Given the description of an element on the screen output the (x, y) to click on. 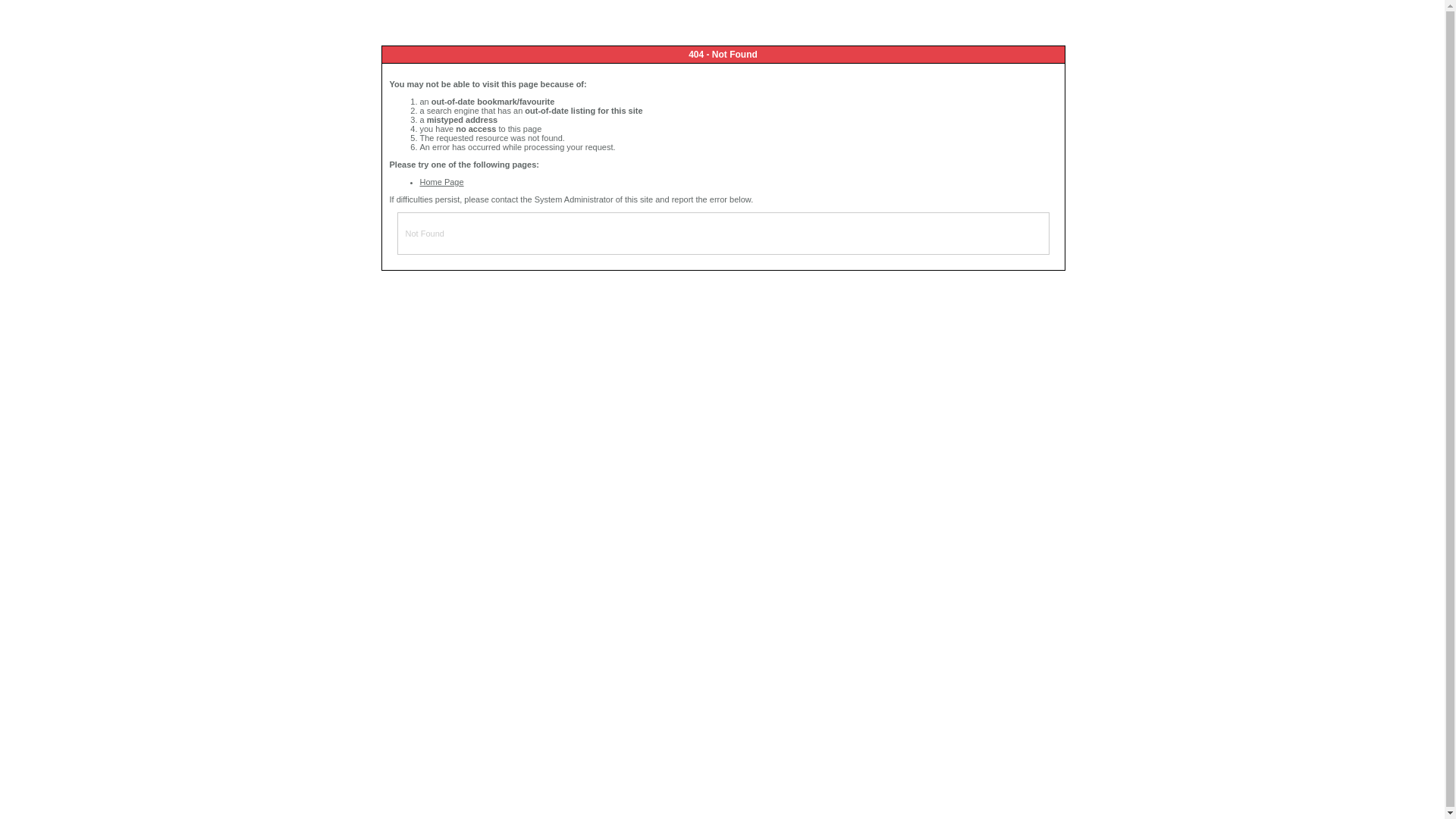
Home Page Element type: text (442, 181)
